Given the description of an element on the screen output the (x, y) to click on. 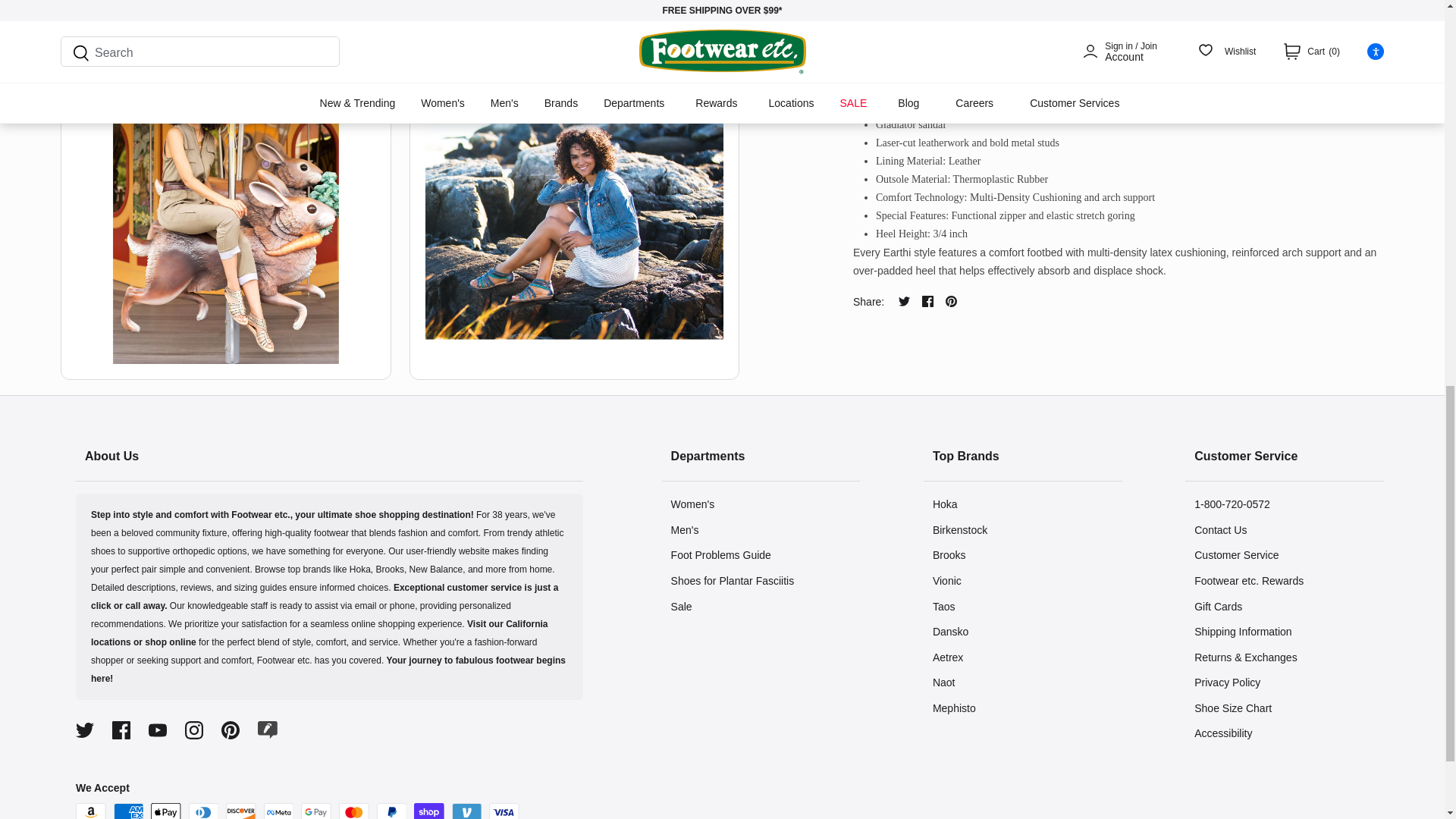
Pinterest (950, 301)
Pinterest (230, 730)
Twitter (84, 730)
Instagram (193, 730)
Facebook (121, 730)
Youtube (157, 730)
Facebook (927, 301)
Twitter (904, 301)
